Given the description of an element on the screen output the (x, y) to click on. 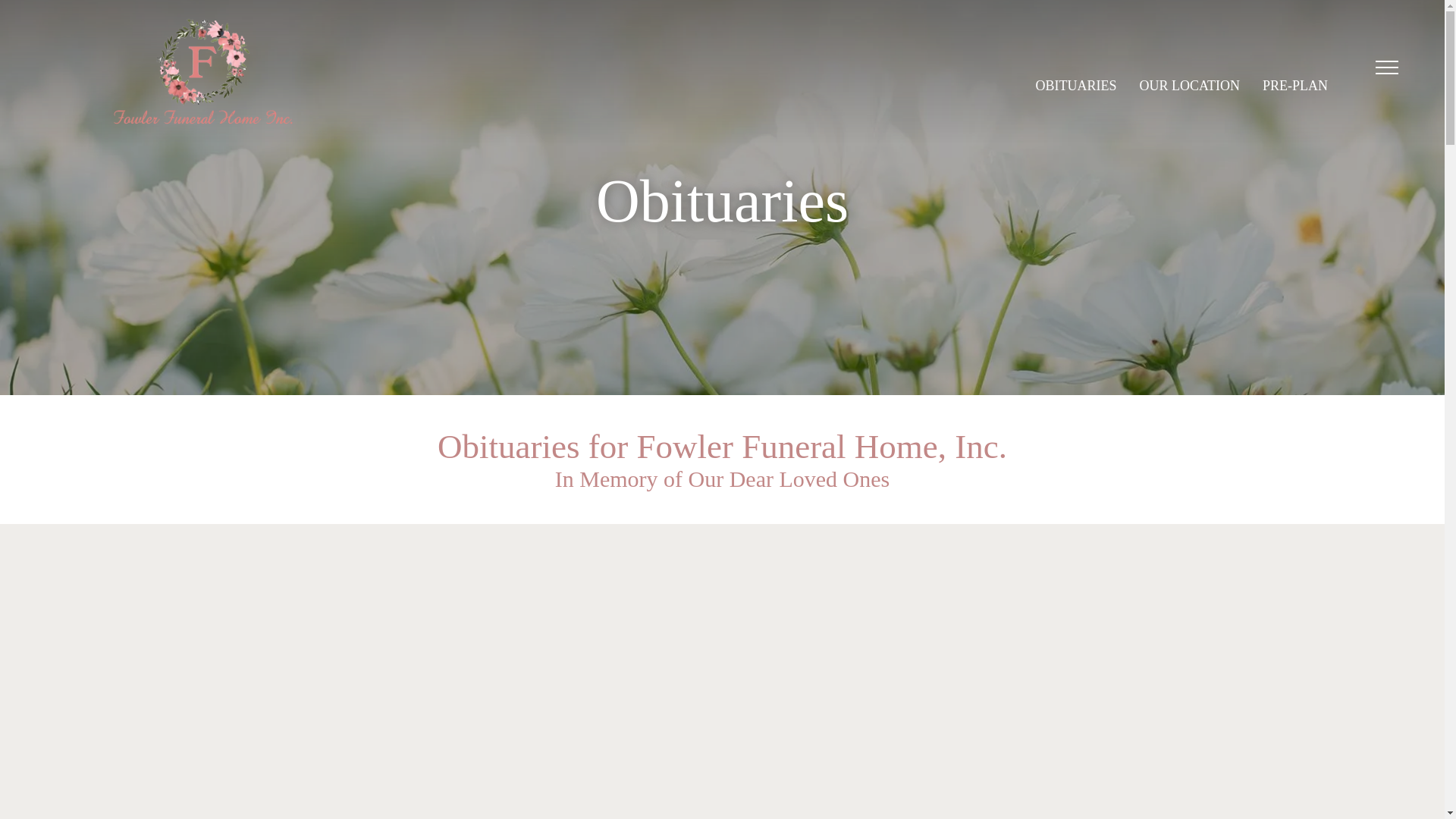
OBITUARIES (1075, 85)
OUR LOCATION (1189, 85)
PRE-PLAN (1294, 85)
